Given the description of an element on the screen output the (x, y) to click on. 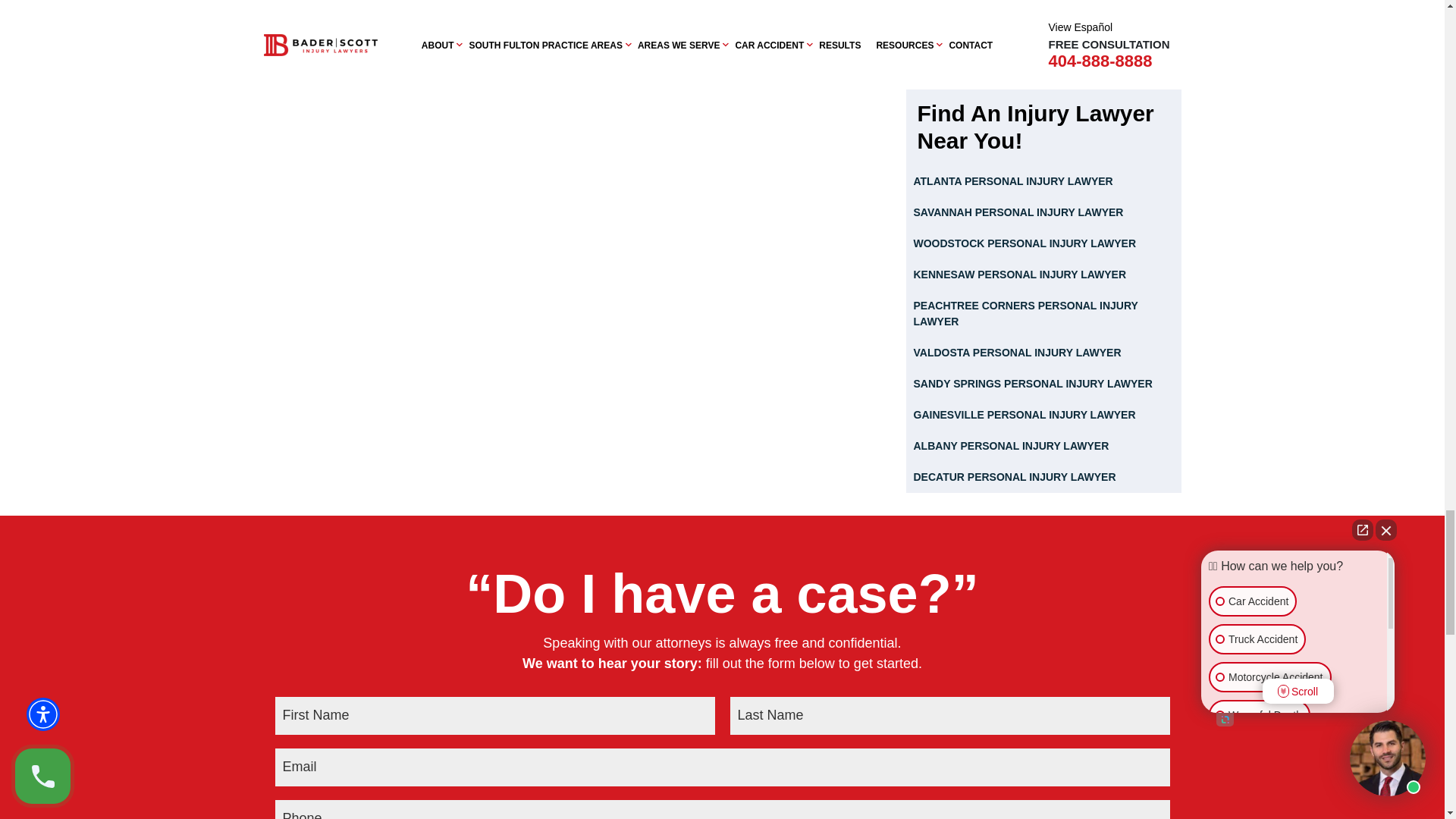
Can I Sue Someone Personally After a Car Accident? (1043, 13)
